Given the description of an element on the screen output the (x, y) to click on. 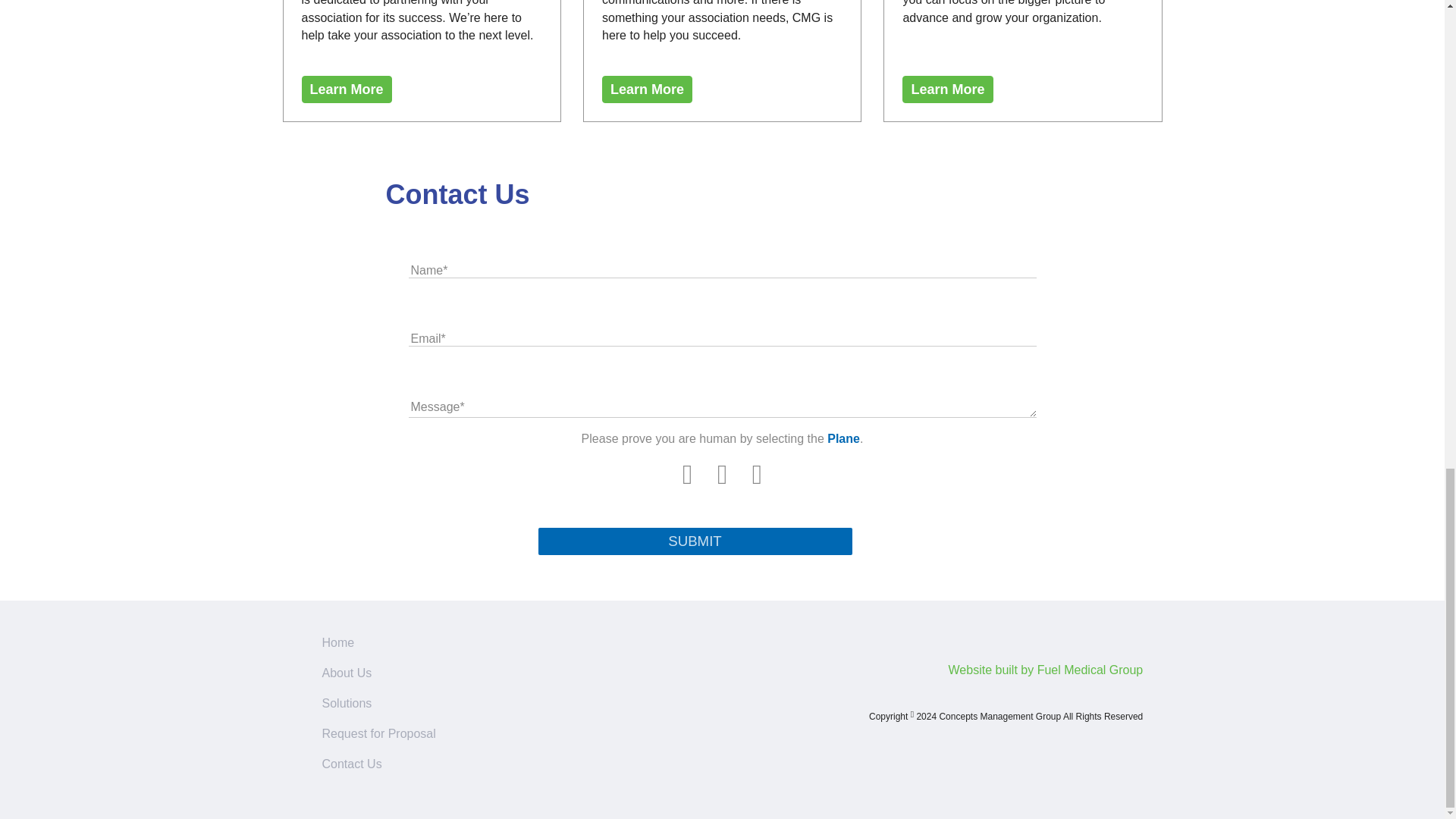
Learn More (947, 89)
Submit (694, 541)
Contact Us (351, 763)
Solutions (346, 703)
About Us (346, 672)
Website built by Fuel Medical Group (1045, 669)
Submit (694, 541)
Request for Proposal (378, 733)
Home (337, 642)
Learn More (346, 89)
Learn More (647, 89)
